Given the description of an element on the screen output the (x, y) to click on. 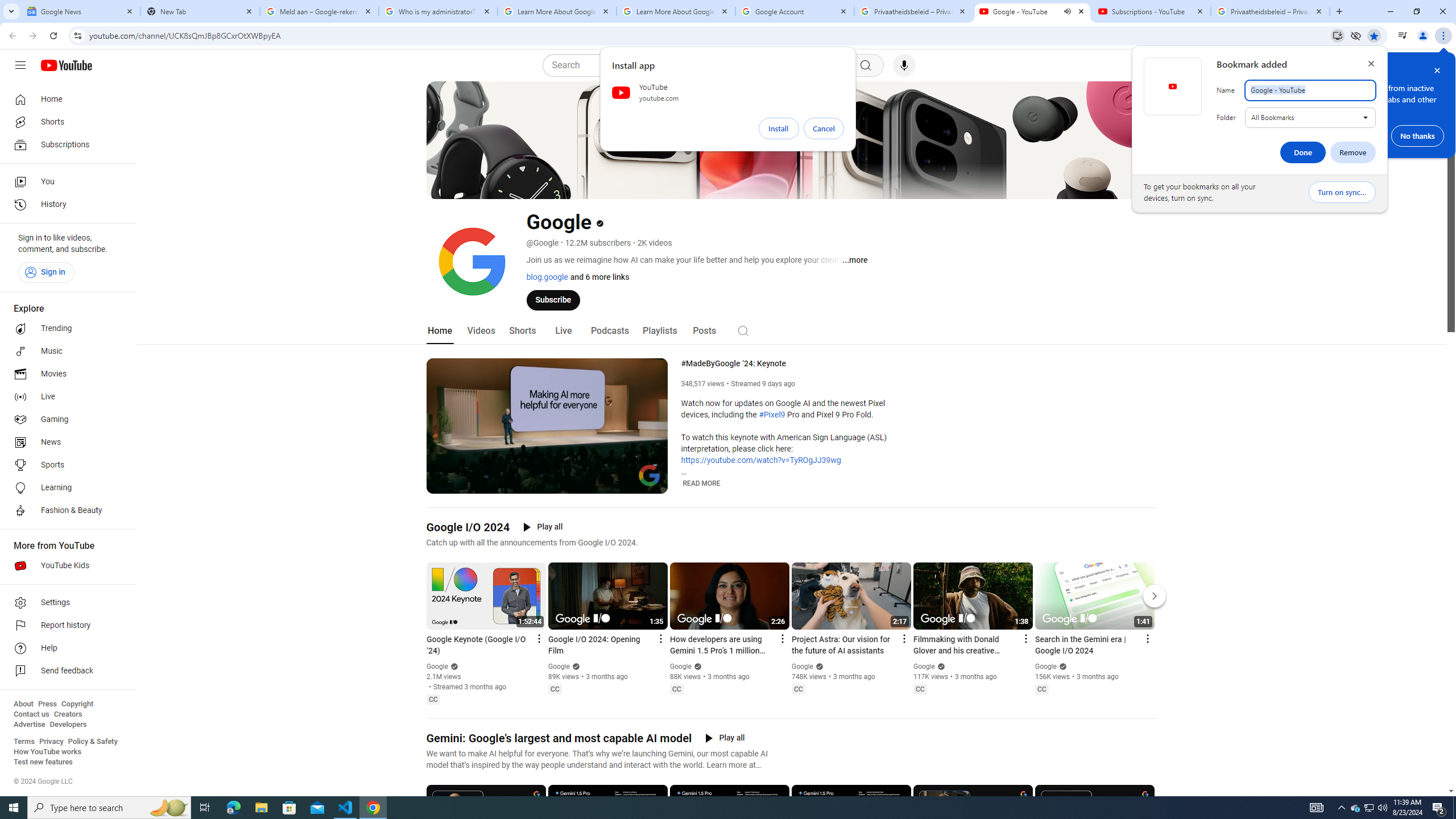
Contact us (31, 714)
Close help bubble (1436, 69)
Bookmark name (1309, 90)
About (23, 703)
#Pixel9 (771, 414)
Q2790: 100% (1382, 807)
Search with your voice (903, 65)
Music (64, 350)
Closed captions (1041, 688)
